Given the description of an element on the screen output the (x, y) to click on. 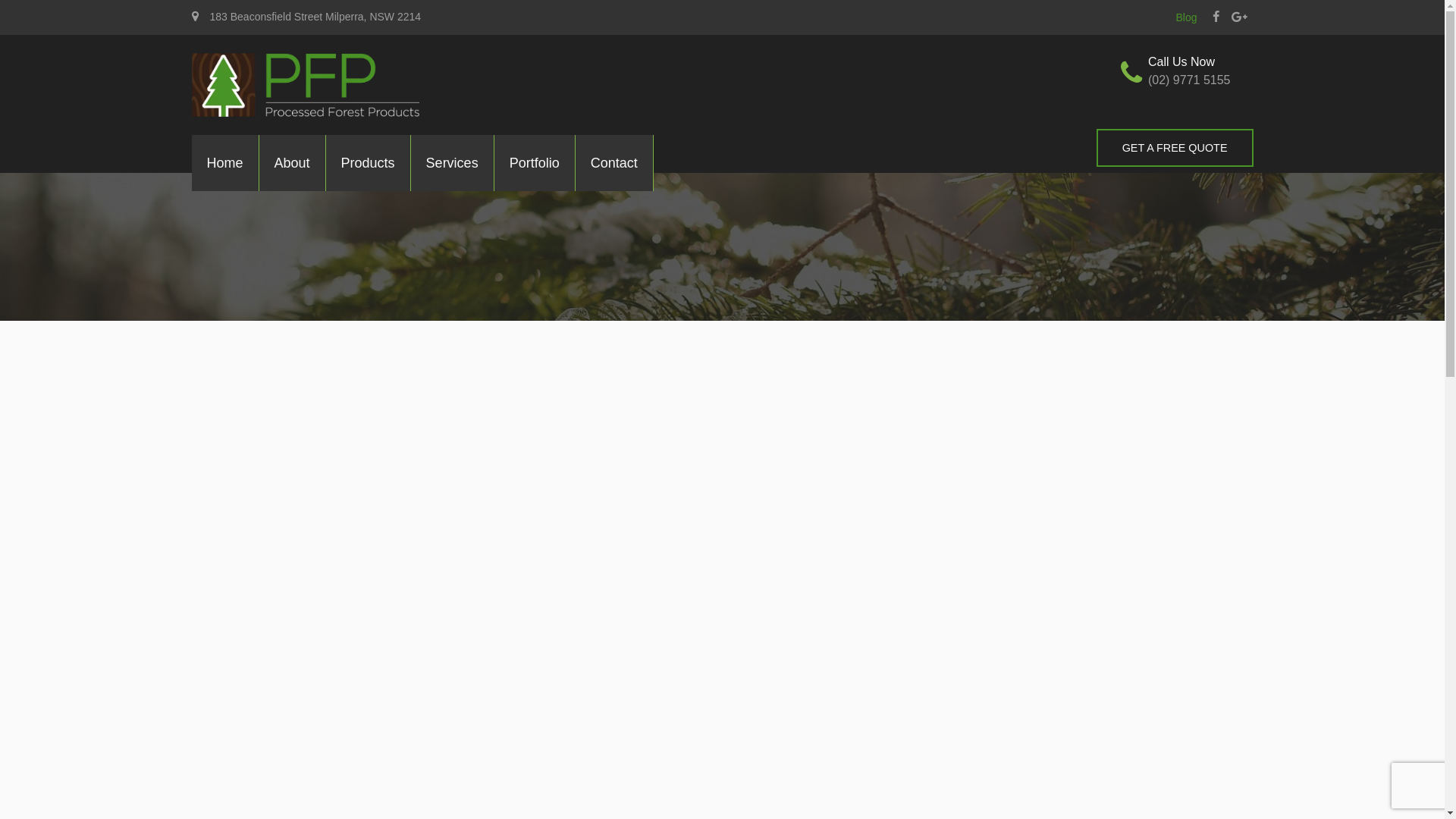
Portfolio Element type: text (534, 162)
Services Element type: text (452, 162)
Blog Element type: text (1185, 17)
Home Element type: text (224, 162)
(02) 9771 5155 Element type: text (1192, 80)
GET A FREE QUOTE Element type: text (1174, 147)
About Element type: text (292, 162)
Contact Element type: text (613, 162)
Processed Forest Products Element type: hover (304, 83)
Products Element type: text (368, 162)
